Given the description of an element on the screen output the (x, y) to click on. 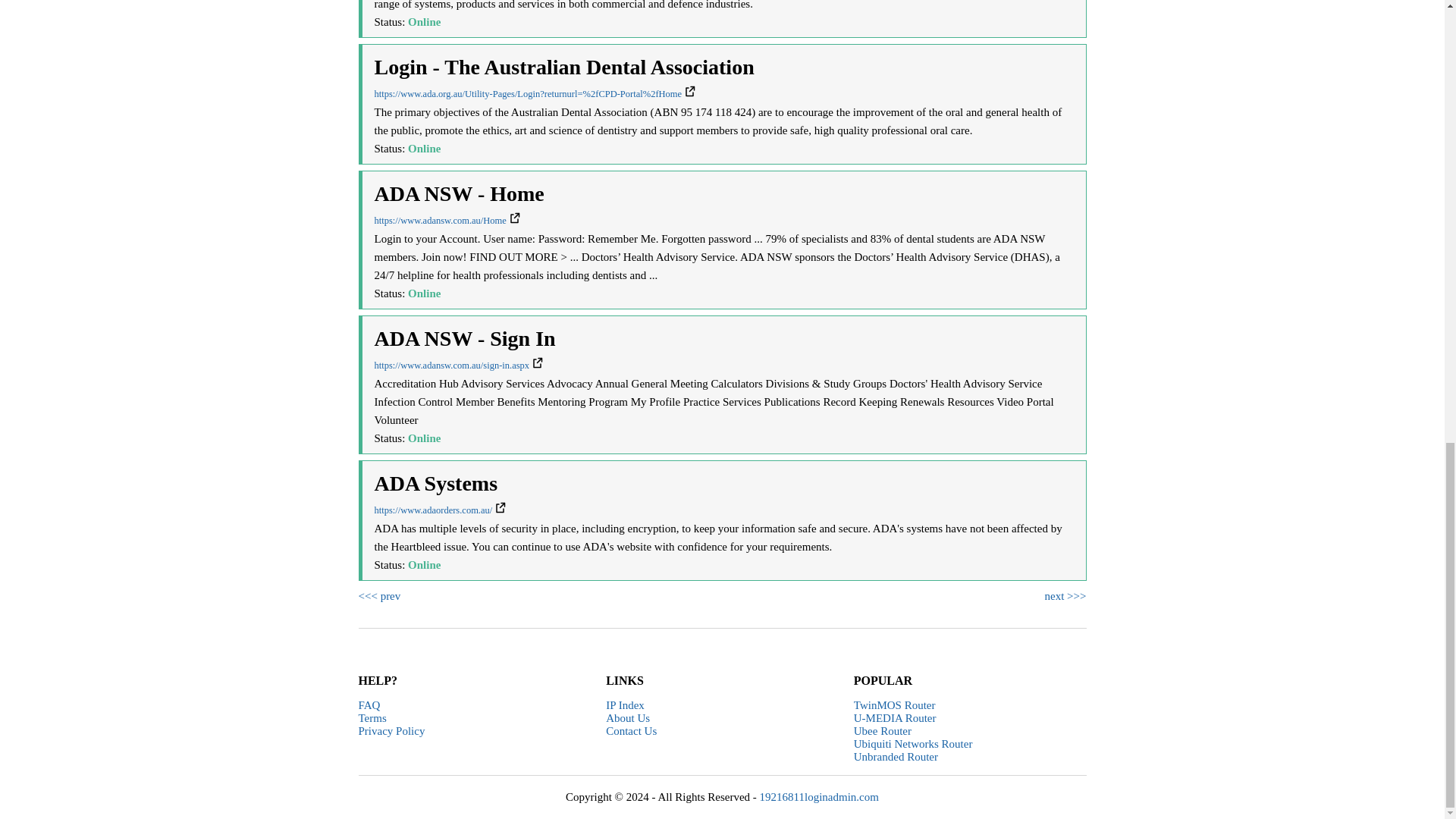
ADA Systems Ada Uniforms Nsw Health Information (440, 510)
Unbranded Router (895, 756)
ADA NSW - Sign In Ada Uniforms Nsw Health Information (458, 365)
Ubee Router (882, 730)
TwinMOS Router (894, 705)
U-MEDIA Router (894, 717)
Terms (371, 717)
About Us (627, 717)
IP Index (625, 705)
19216811loginadmin.com (819, 797)
